Given the description of an element on the screen output the (x, y) to click on. 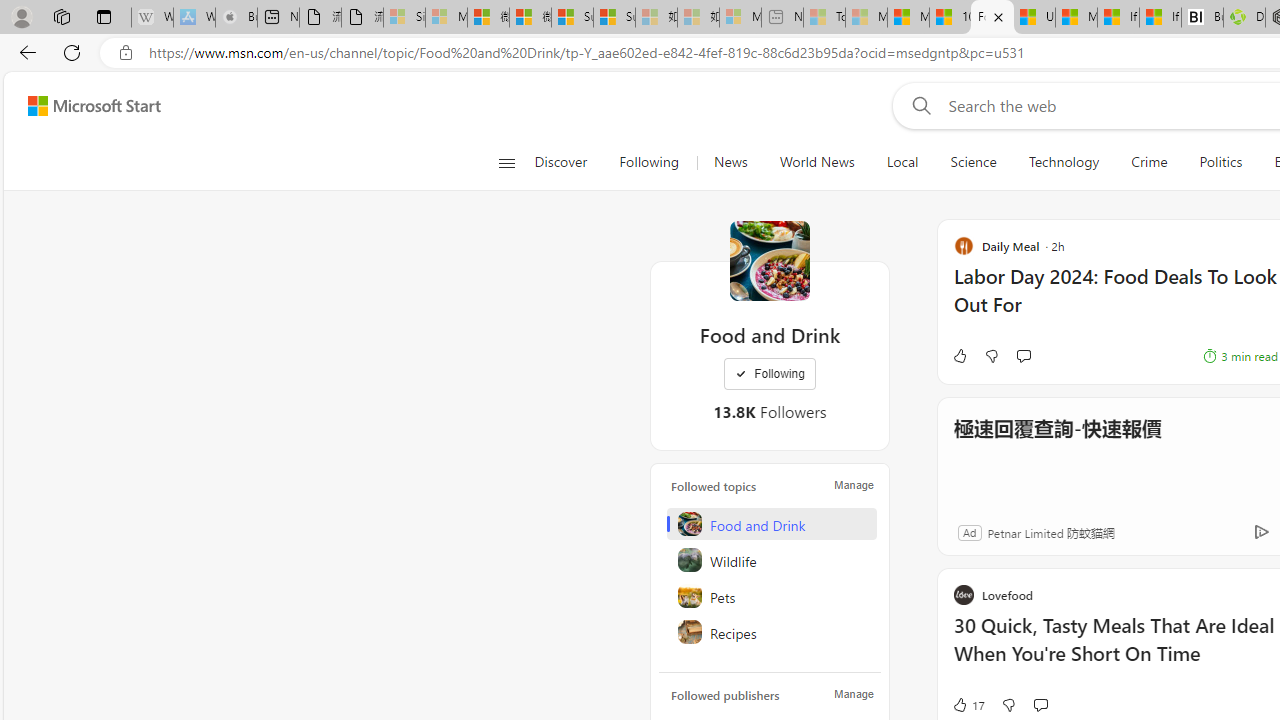
World News (817, 162)
Technology (1063, 162)
Labor Day 2024: Food Deals To Look Out For (1115, 300)
Start the conversation (1040, 704)
Descarga Driver Updater (1243, 17)
Manage (854, 693)
Wildlife (771, 560)
Skip to content (86, 105)
Food and Drink - MSN (991, 17)
